Given the description of an element on the screen output the (x, y) to click on. 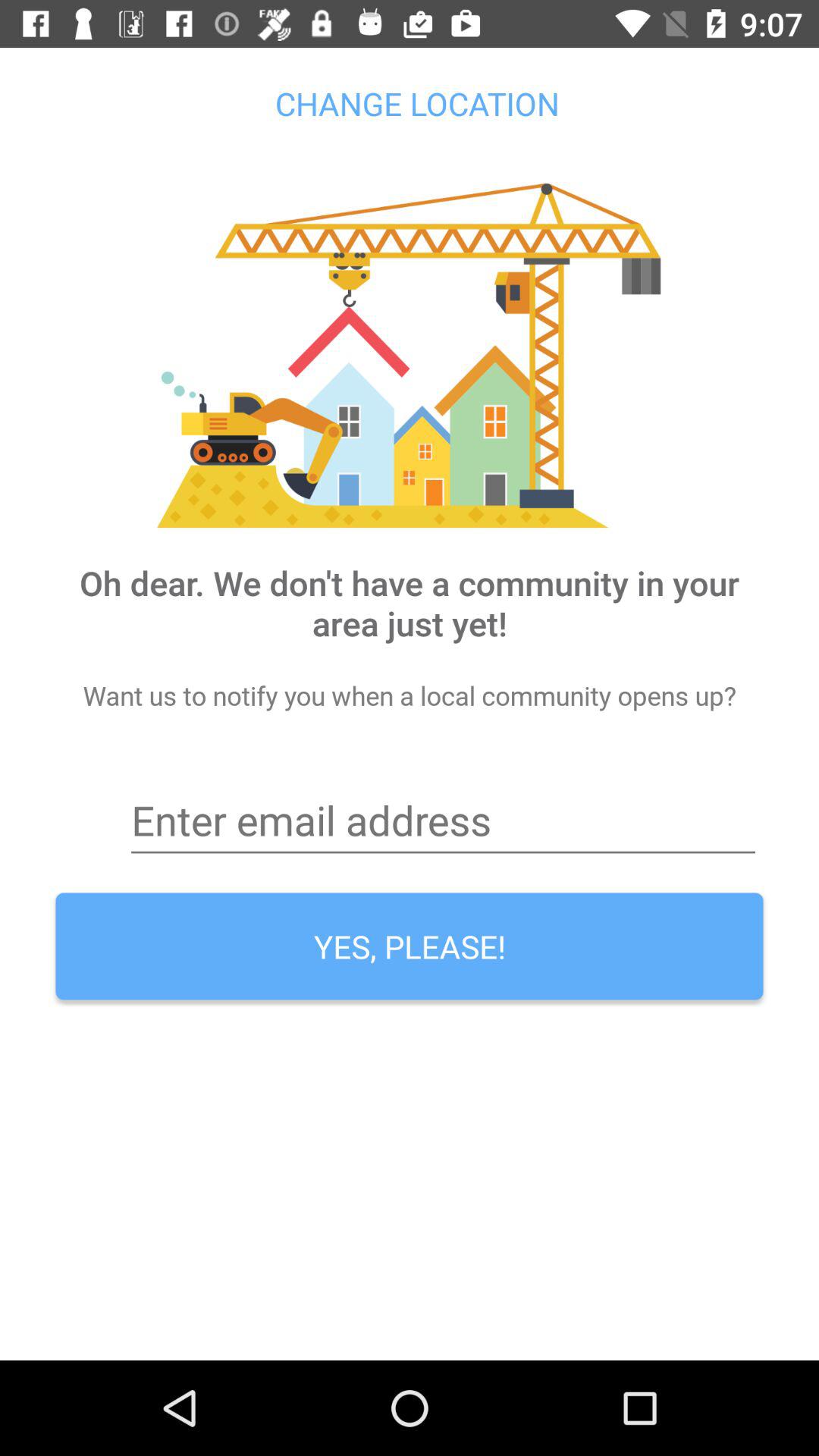
swipe until the change location (409, 103)
